Given the description of an element on the screen output the (x, y) to click on. 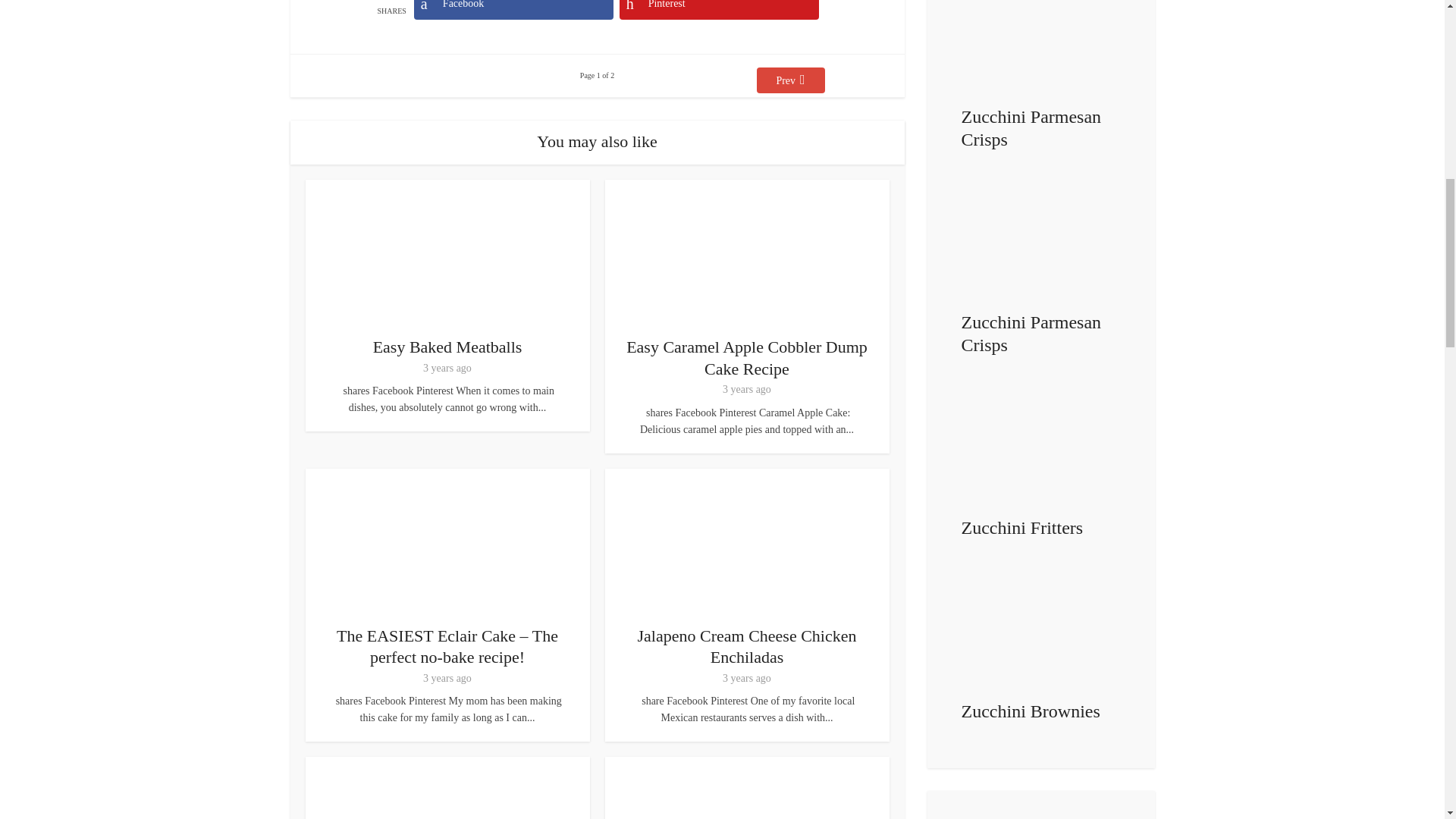
Easy Caramel Apple Cobbler Dump Cake Recipe (746, 357)
Pinterest (719, 9)
Prev (791, 80)
Jalapeno Cream Cheese Chicken Enchiladas (747, 646)
Share on Pinterest (719, 9)
Easy Baked Meatballs (447, 346)
Share on Facebook (512, 9)
Easy Baked Meatballs (447, 346)
Facebook (512, 9)
Easy Caramel Apple Cobbler Dump Cake Recipe (746, 357)
